Given the description of an element on the screen output the (x, y) to click on. 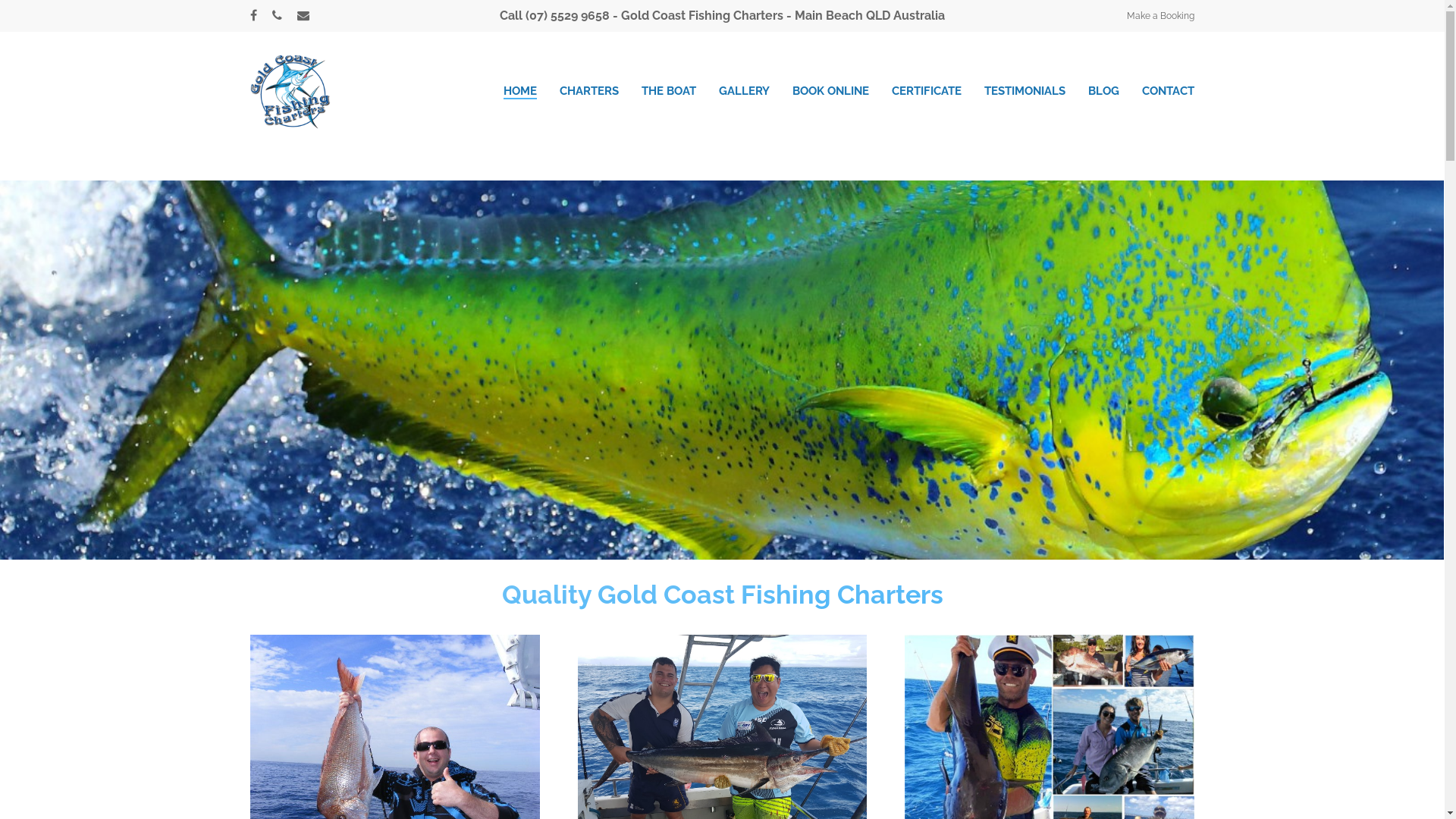
GALLERY Element type: text (743, 90)
Make a Booking Element type: text (1160, 15)
BLOG Element type: text (1103, 90)
HOME Element type: text (519, 90)
CONTACT Element type: text (1168, 90)
BOOK ONLINE Element type: text (830, 90)
TESTIMONIALS Element type: text (1024, 90)
CERTIFICATE Element type: text (926, 90)
CHARTERS Element type: text (588, 90)
THE BOAT Element type: text (668, 90)
